Given the description of an element on the screen output the (x, y) to click on. 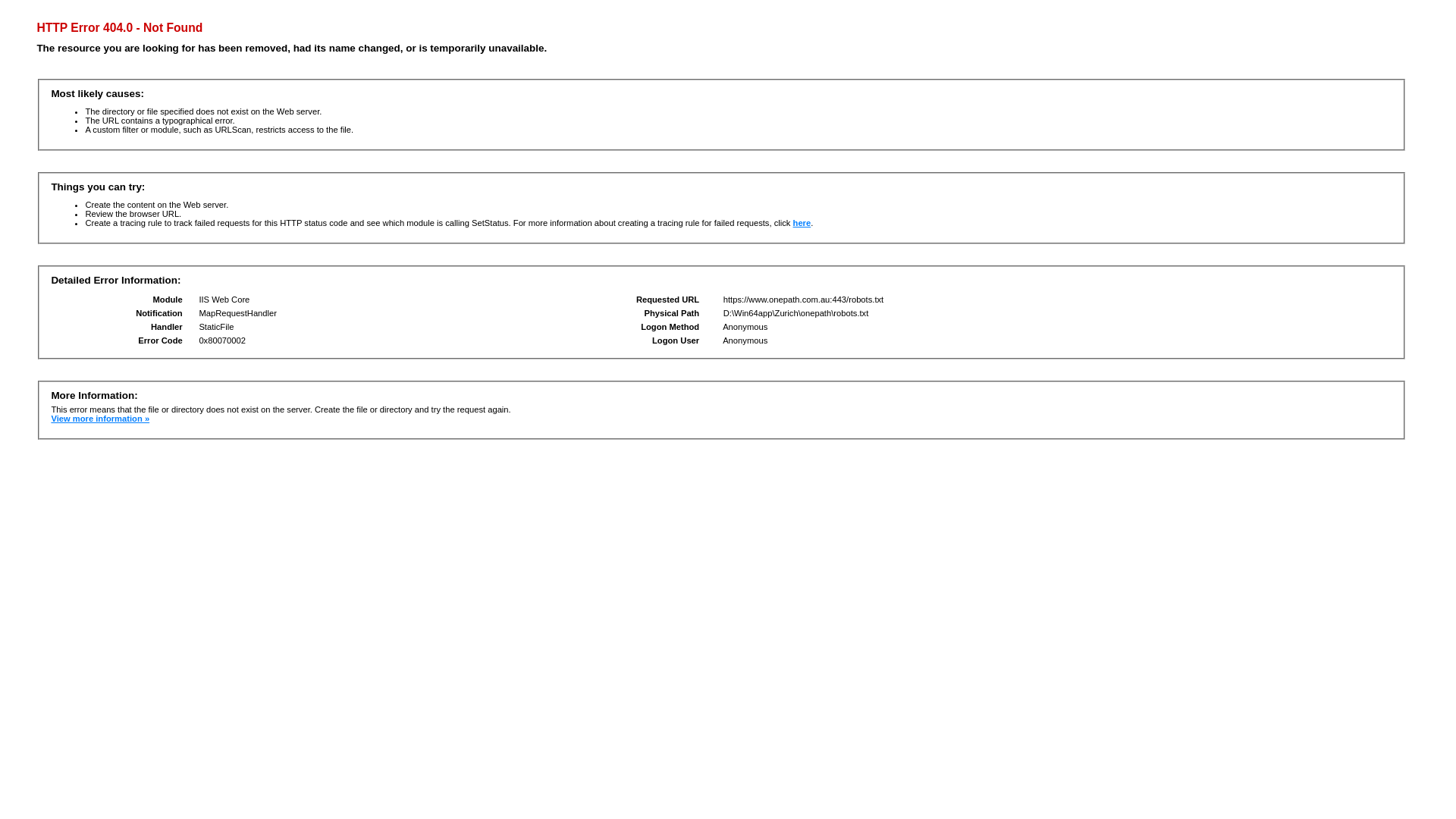
here Element type: text (802, 222)
